Given the description of an element on the screen output the (x, y) to click on. 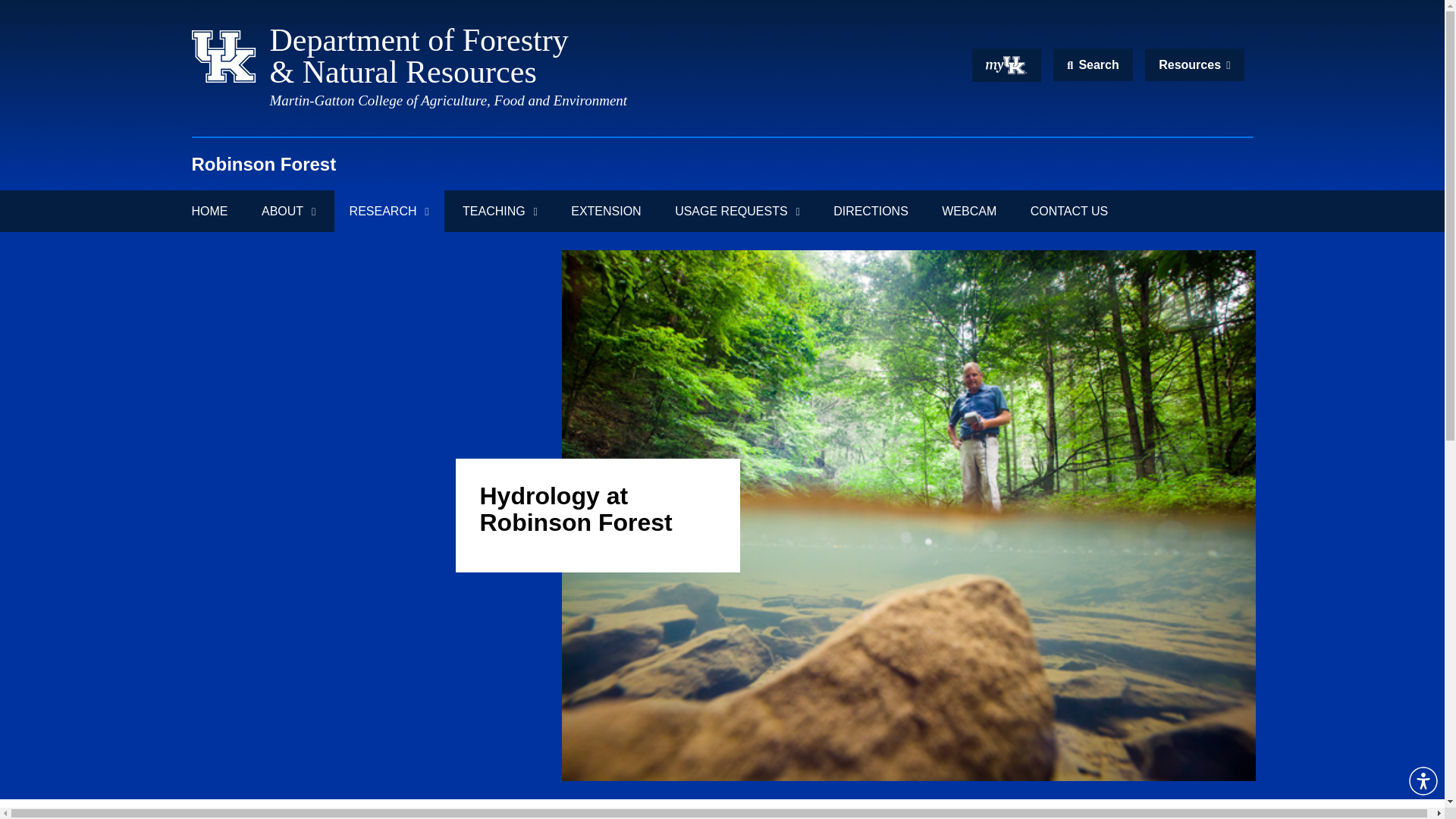
DIRECTIONS (870, 210)
Skip to main content (721, 6)
Resources (1193, 64)
EXTENSION (606, 210)
HOME (216, 210)
Martin-Gatton College of Agriculture, Food and Environment (448, 100)
ABOUT (288, 210)
Log into the myUK portal (1006, 64)
Accessibility Menu (1422, 780)
RESEARCH (389, 210)
USAGE REQUESTS (737, 210)
CONTACT US (1069, 210)
Search (1092, 64)
TEACHING (499, 210)
WEBCAM (968, 210)
